Given the description of an element on the screen output the (x, y) to click on. 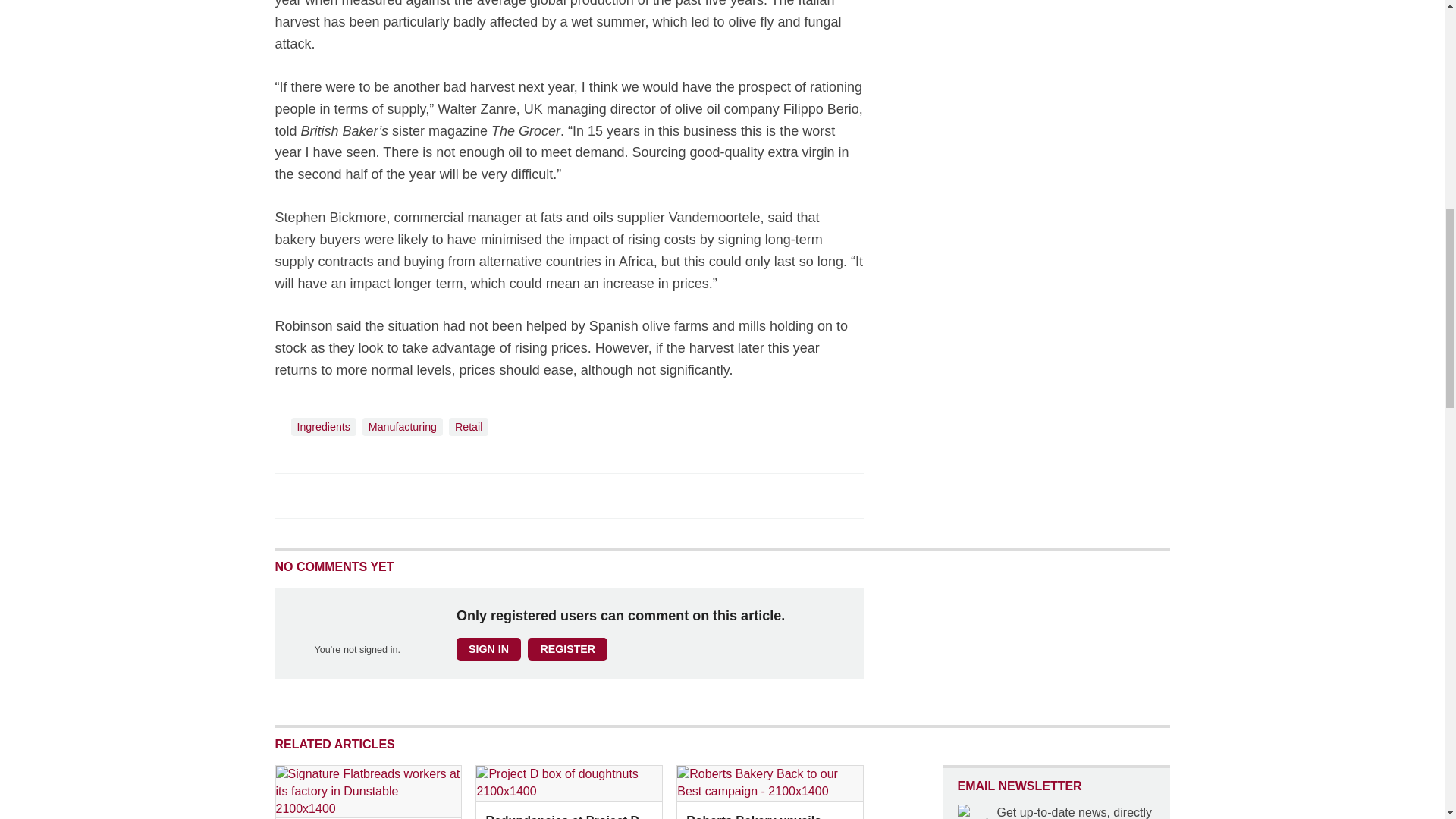
No comments (840, 503)
Share this on Facebook (288, 494)
Share this on Linked in (352, 494)
Email this article (386, 494)
Share this on Twitter (320, 494)
